Given the description of an element on the screen output the (x, y) to click on. 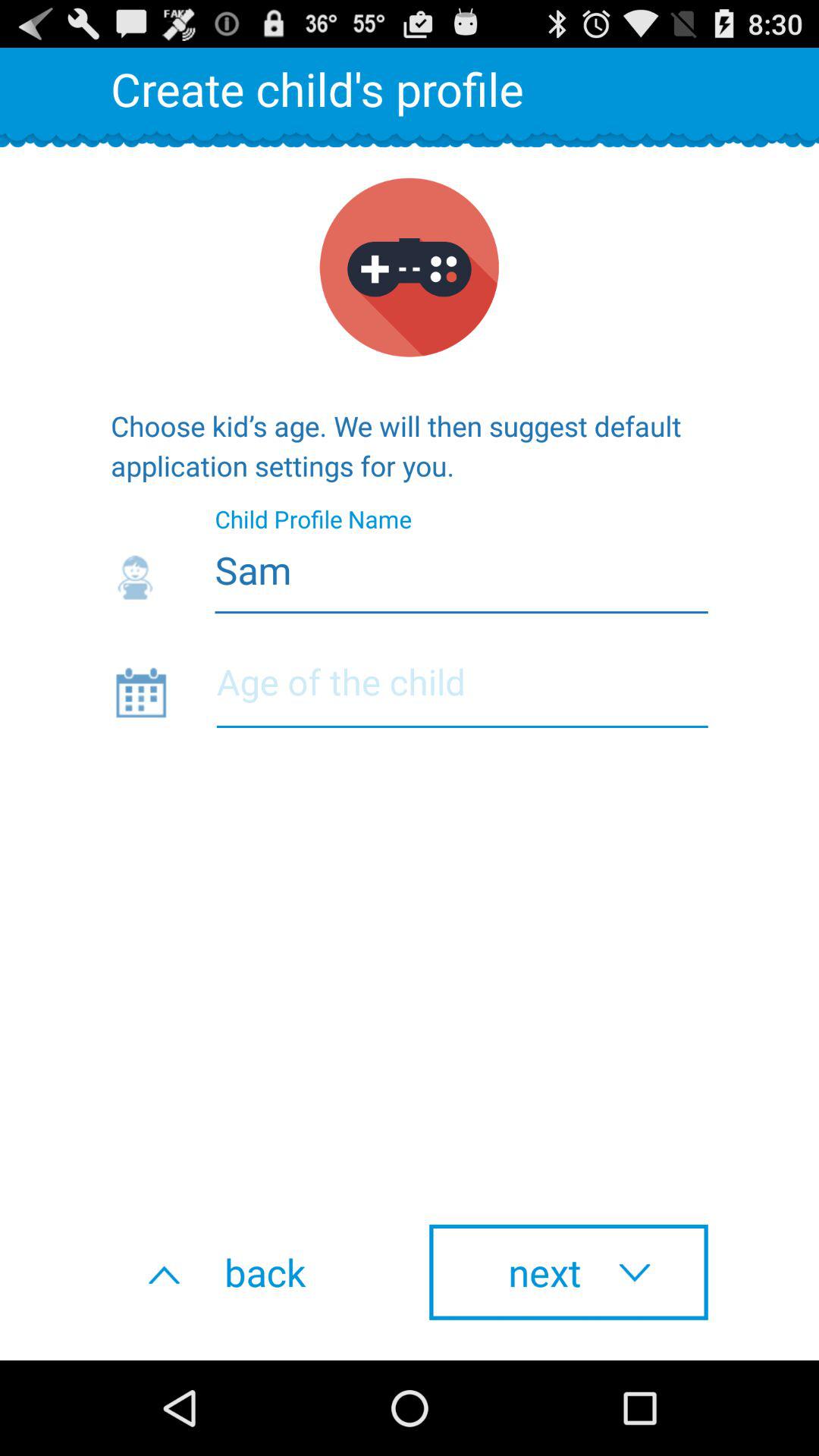
open next item (568, 1272)
